Given the description of an element on the screen output the (x, y) to click on. 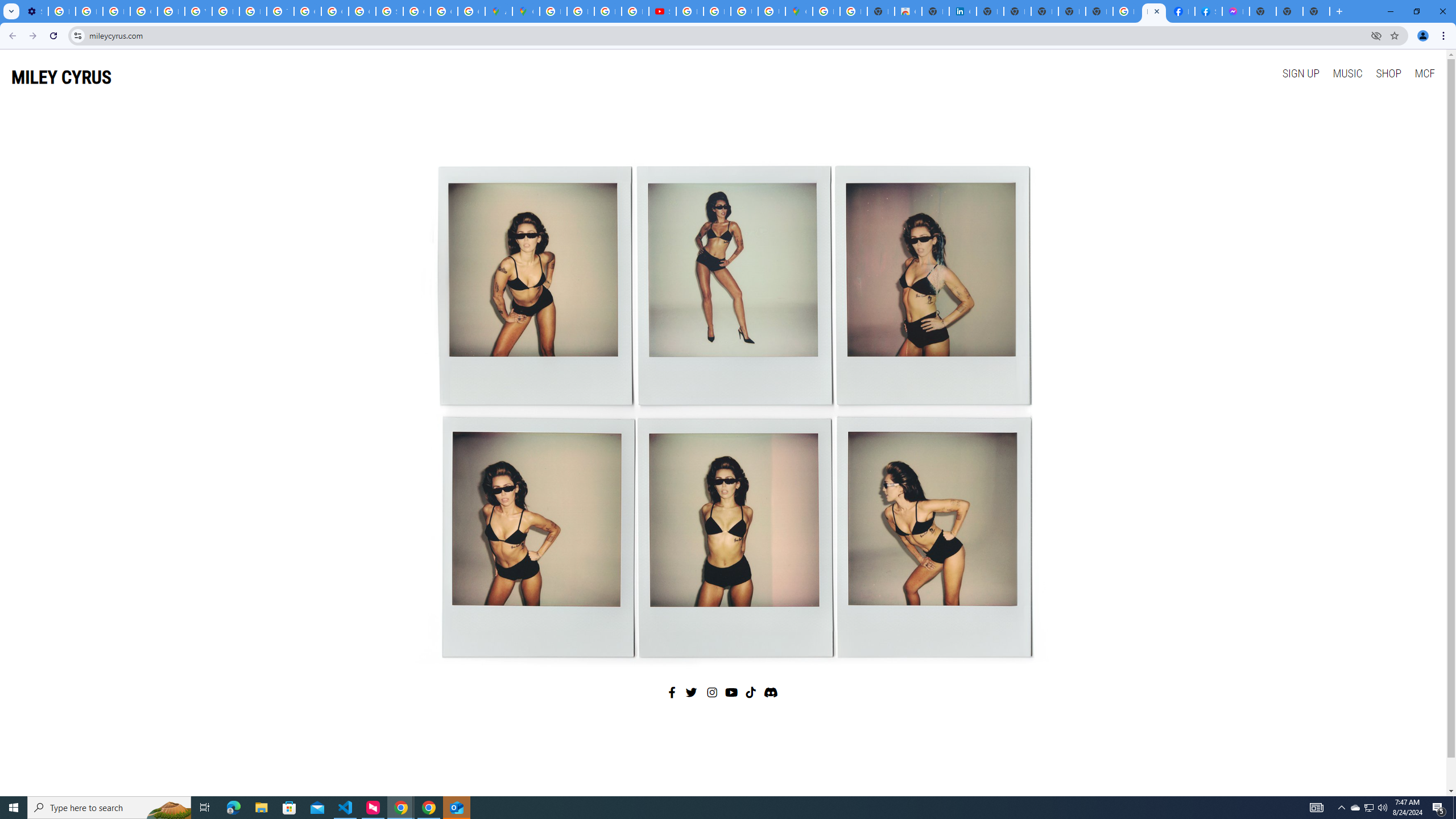
Google Maps (525, 11)
Messenger (1236, 11)
Settings - Customize profile (34, 11)
SIGN UP (1300, 73)
Blogger Policies and Guidelines - Transparency Center (553, 11)
How Chrome protects your passwords - Google Chrome Help (690, 11)
Delete photos & videos - Computer - Google Photos Help (61, 11)
Miley Cyrus | Facebook (1180, 11)
MUSIC (1347, 73)
MCF (1424, 73)
